Given the description of an element on the screen output the (x, y) to click on. 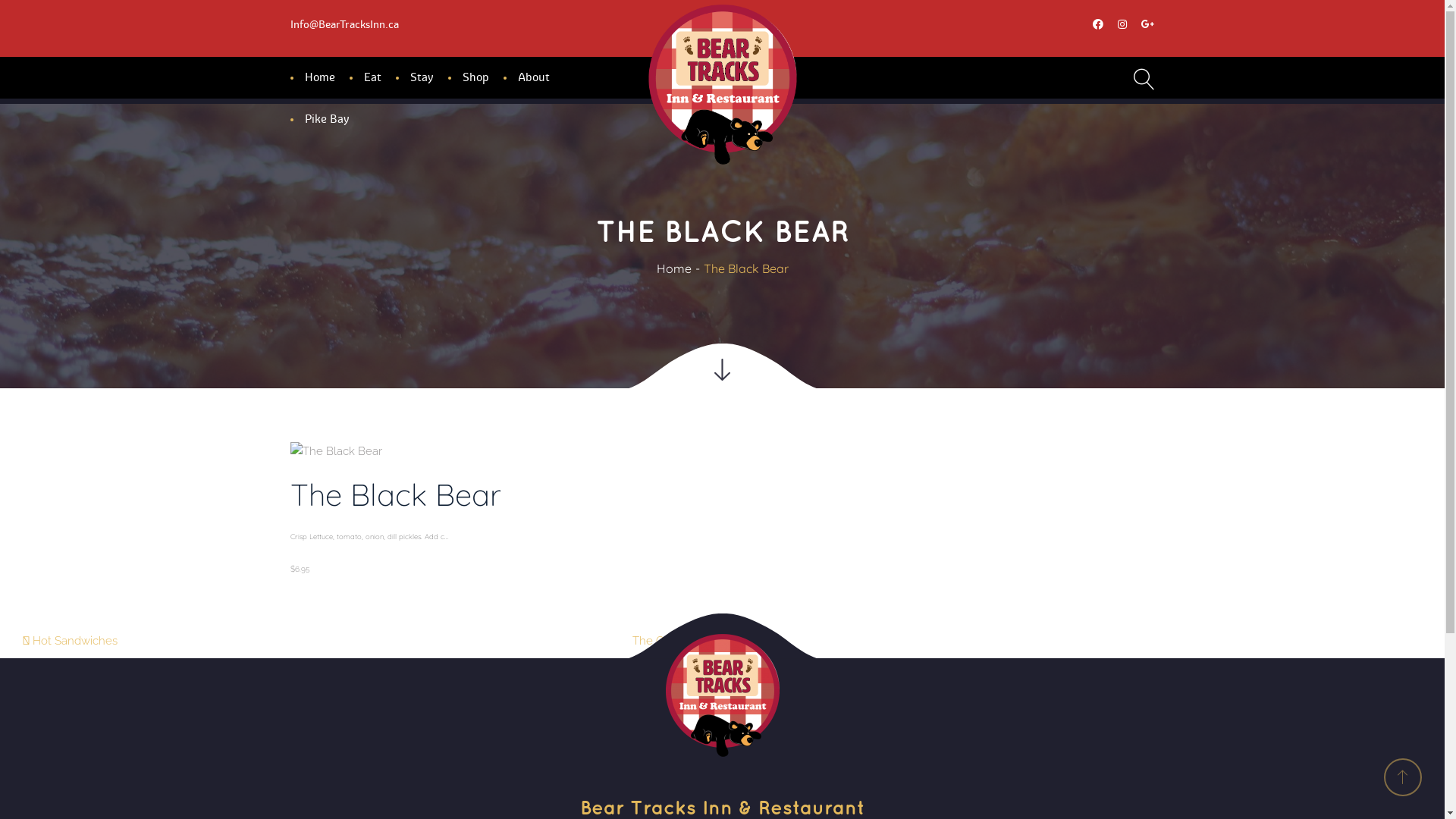
Pike Bay Element type: text (326, 119)
Home Element type: text (318, 77)
Eat Element type: text (371, 77)
About Element type: text (533, 77)
Shop Element type: text (474, 77)
Stay Element type: text (421, 77)
Home Element type: text (673, 268)
Search Element type: text (1125, 139)
